Given the description of an element on the screen output the (x, y) to click on. 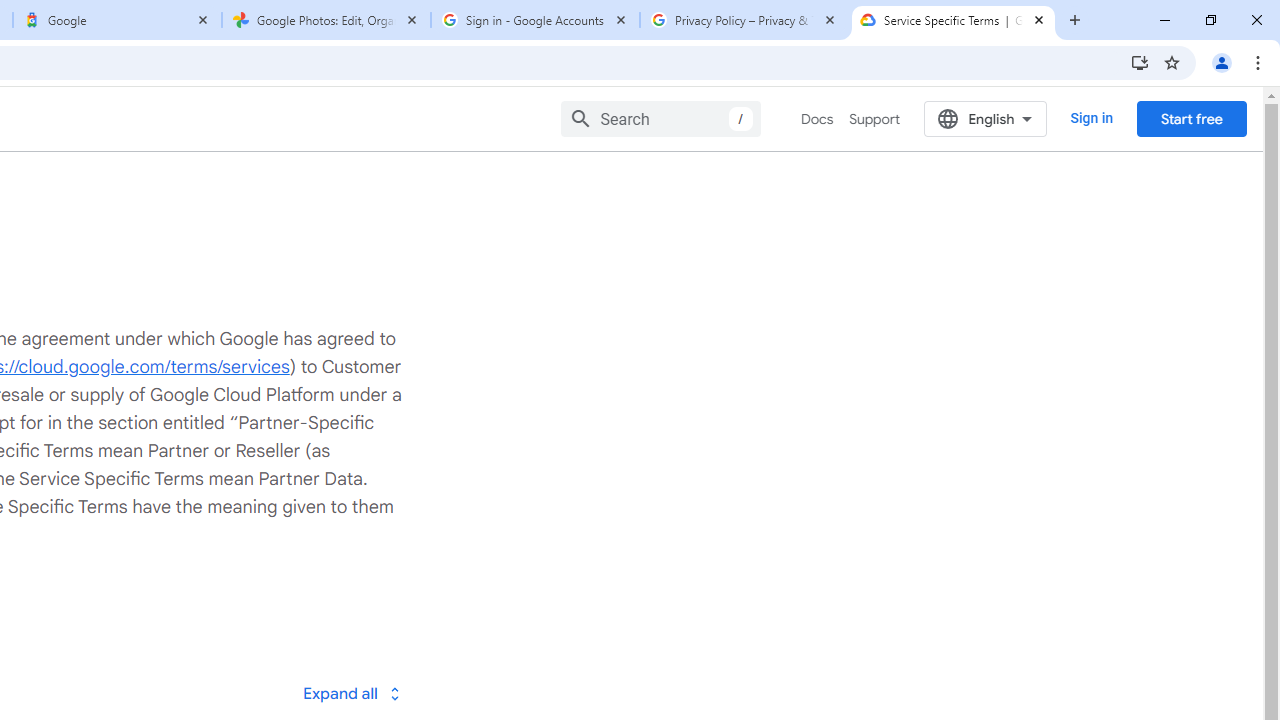
Sign in - Google Accounts (535, 20)
Google (116, 20)
